Given the description of an element on the screen output the (x, y) to click on. 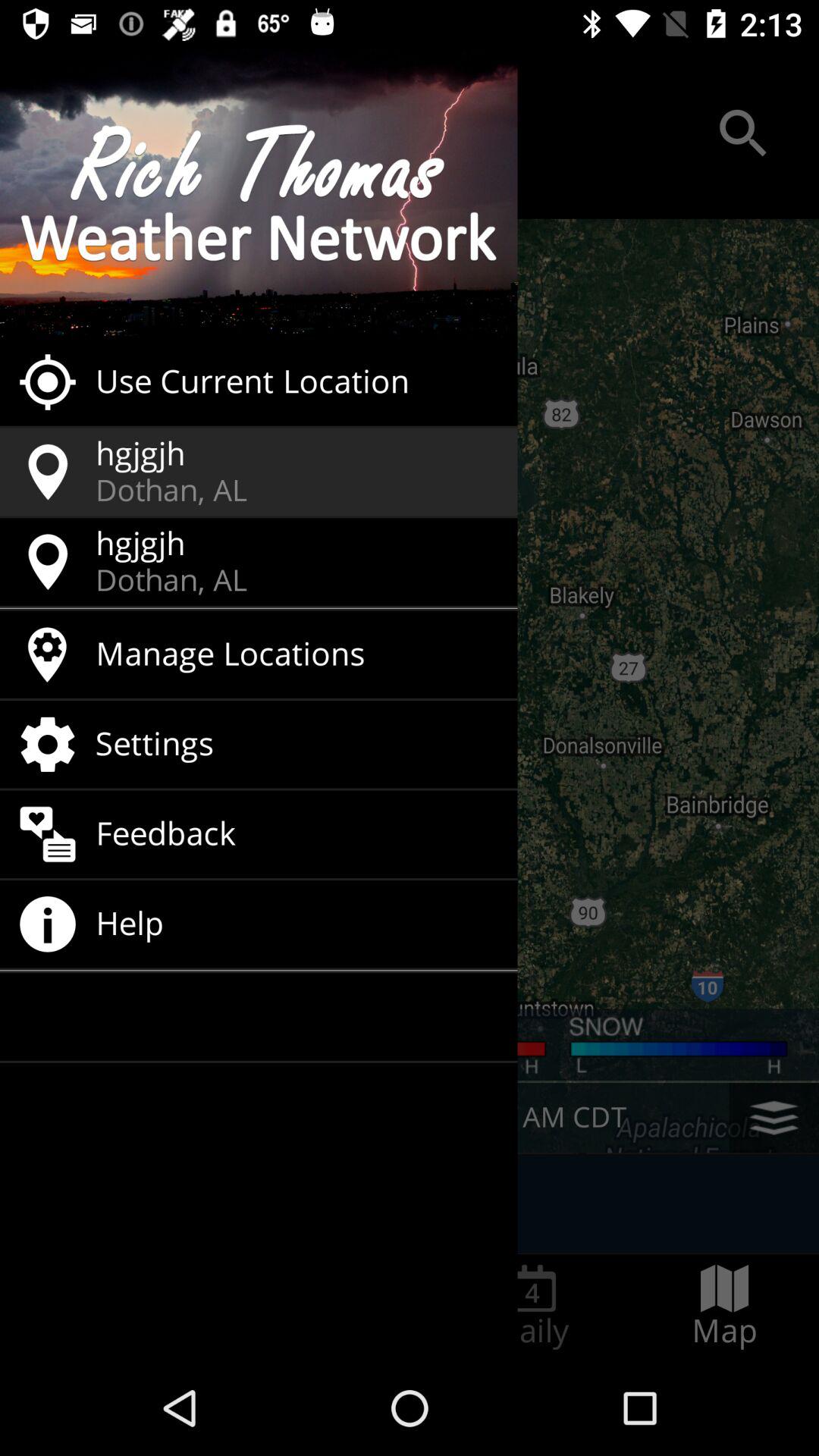
select the icon just below the 213 at the top right corner (743, 133)
